Given the description of an element on the screen output the (x, y) to click on. 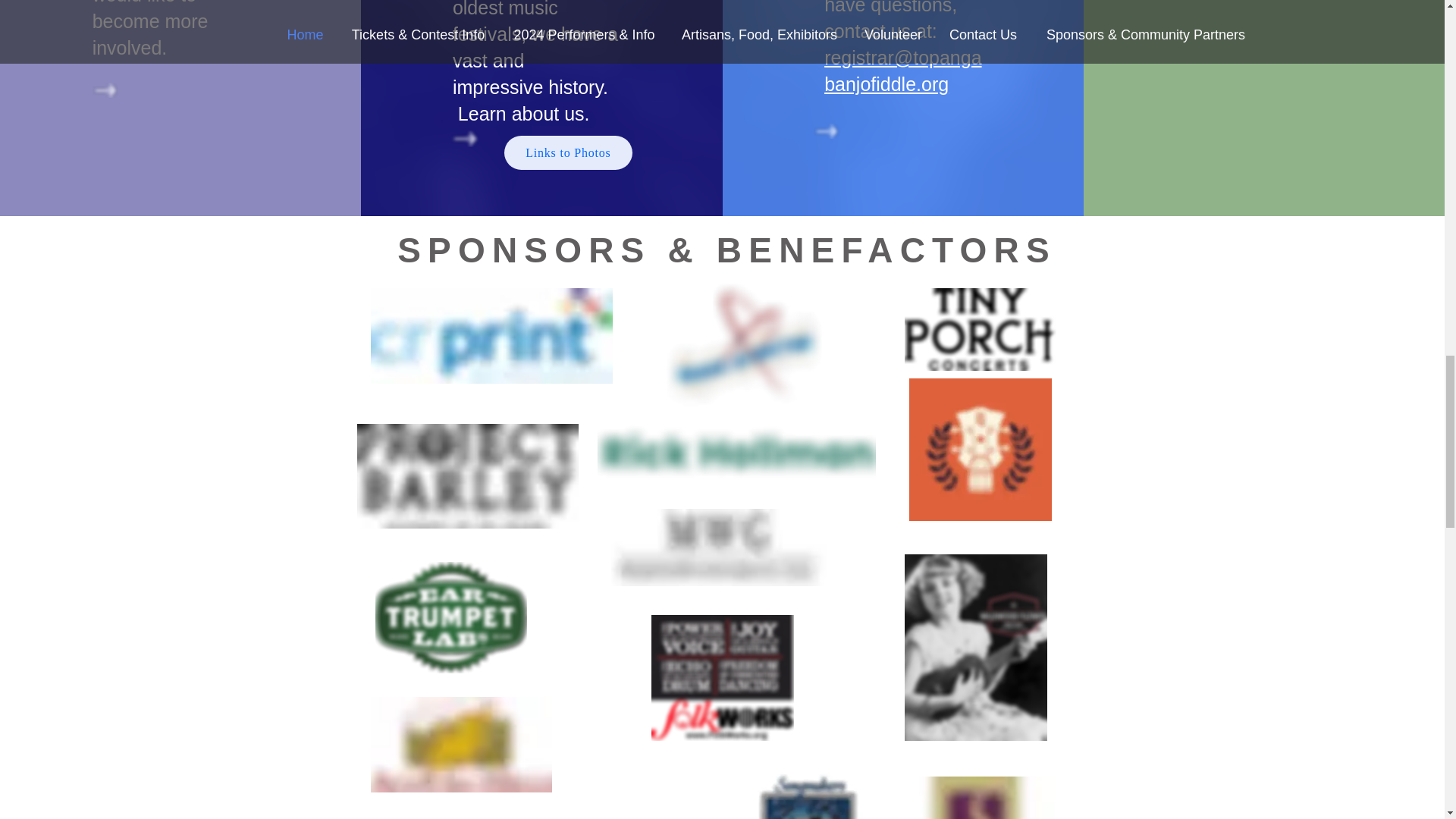
Links to Photos (567, 152)
Songmakers w QR Code 2024.jpeg (808, 794)
www.FolkWorks.org.png (721, 678)
